Given the description of an element on the screen output the (x, y) to click on. 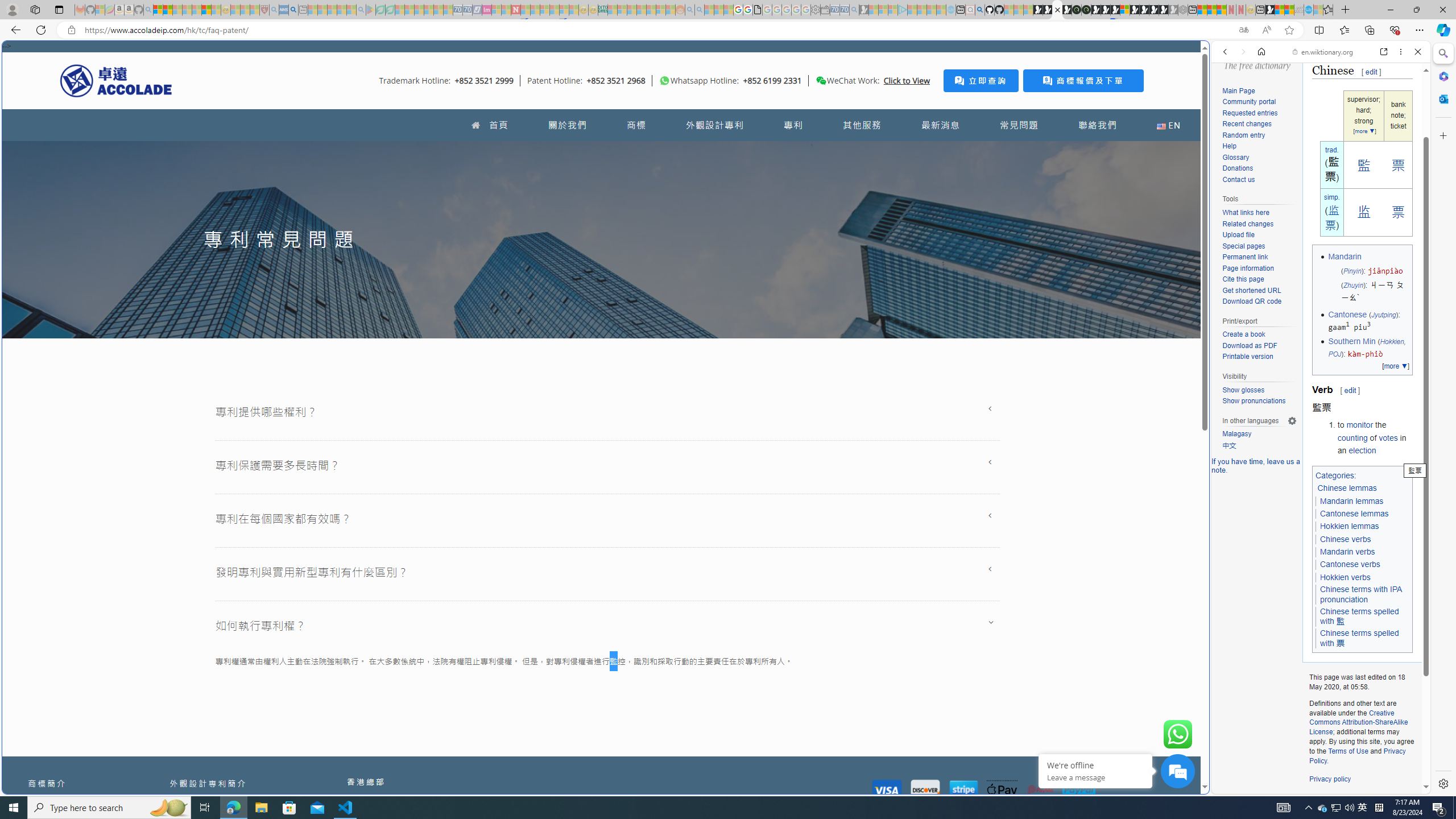
Glossary (1259, 157)
Special pages (1259, 246)
